Given the description of an element on the screen output the (x, y) to click on. 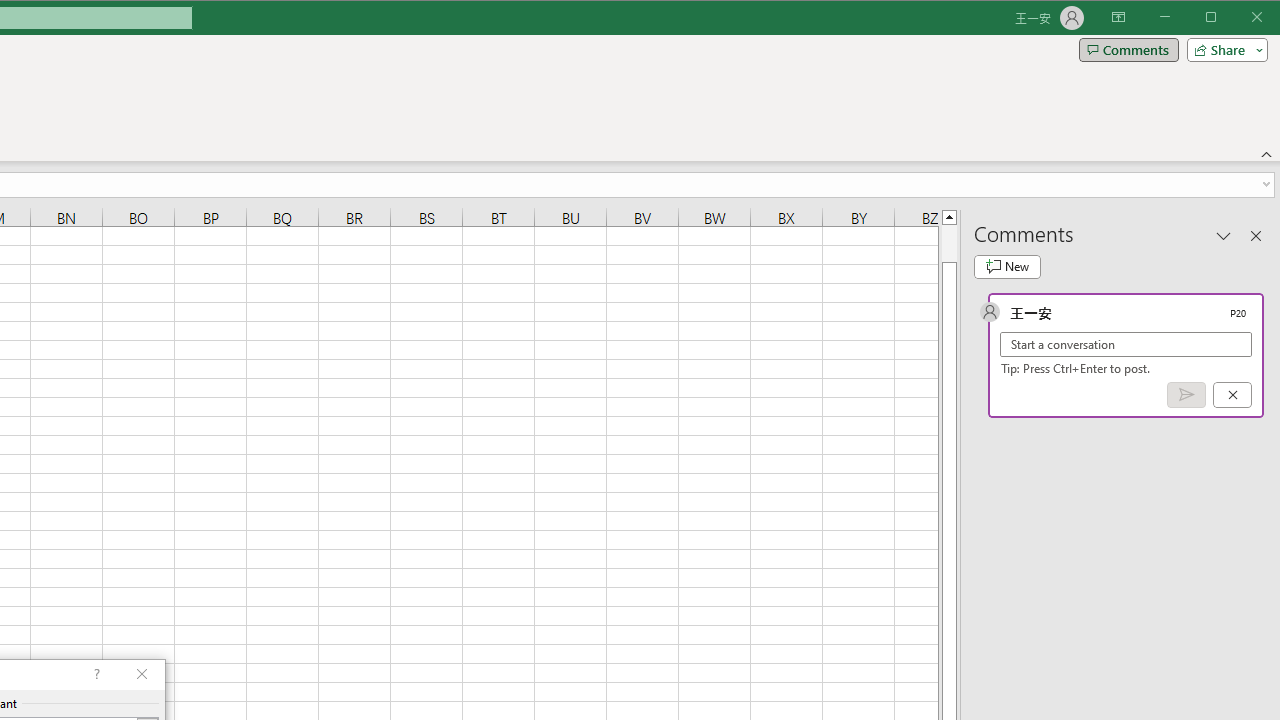
Ribbon Display Options (1118, 17)
New comment (1007, 266)
